Given the description of an element on the screen output the (x, y) to click on. 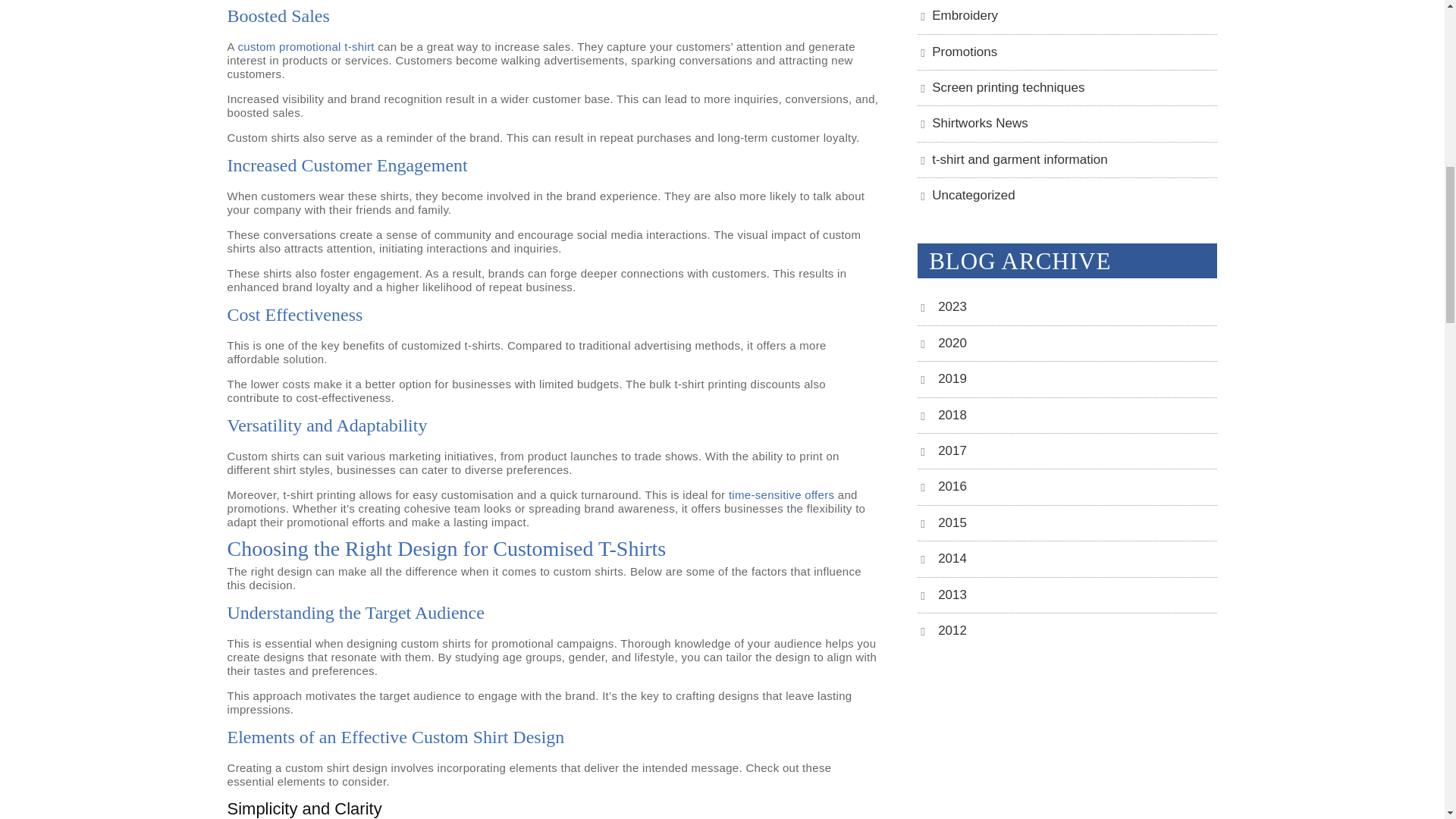
2023 (948, 306)
2020 (948, 342)
